Given the description of an element on the screen output the (x, y) to click on. 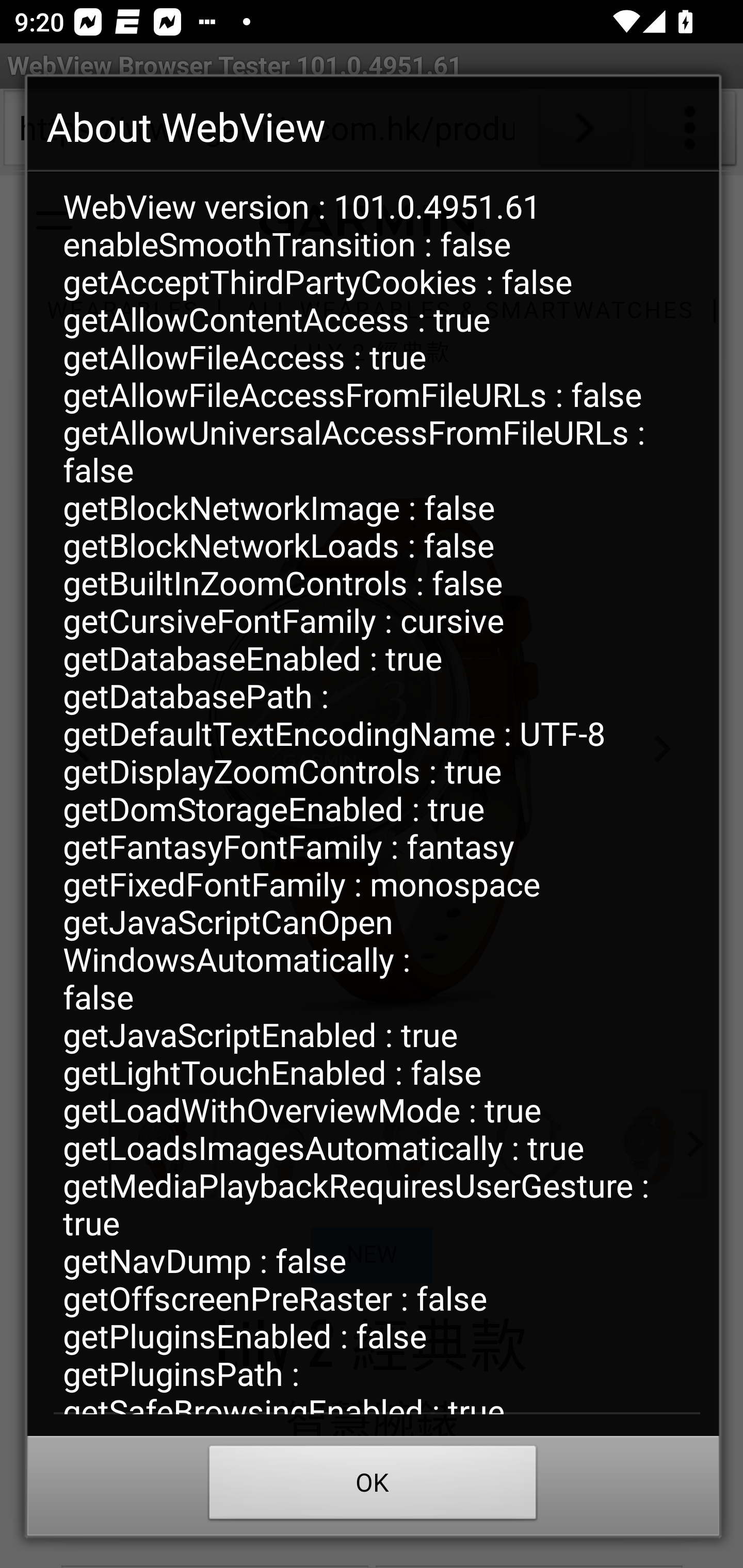
OK (372, 1486)
